Given the description of an element on the screen output the (x, y) to click on. 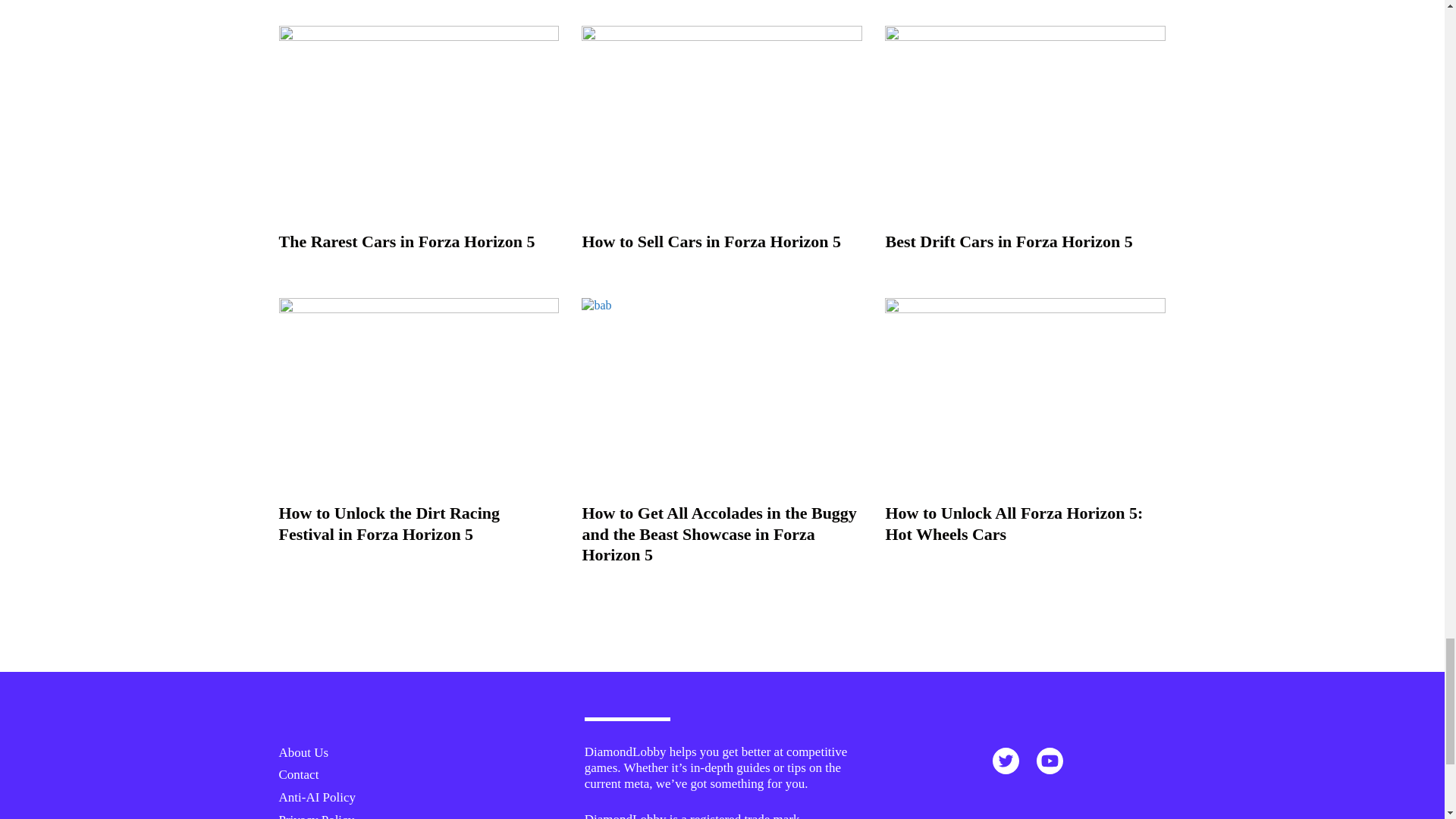
Contact (298, 774)
How to Unlock All Forza Horizon 5: Hot Wheels Cars (1013, 523)
About Us (304, 752)
How to Sell Cars in Forza Horizon 5 (710, 240)
The Rarest Cars in Forza Horizon 5 (407, 240)
Best Drift Cars in Forza Horizon 5 (1008, 240)
How to Unlock the Dirt Racing Festival in Forza Horizon 5 (389, 523)
